Given the description of an element on the screen output the (x, y) to click on. 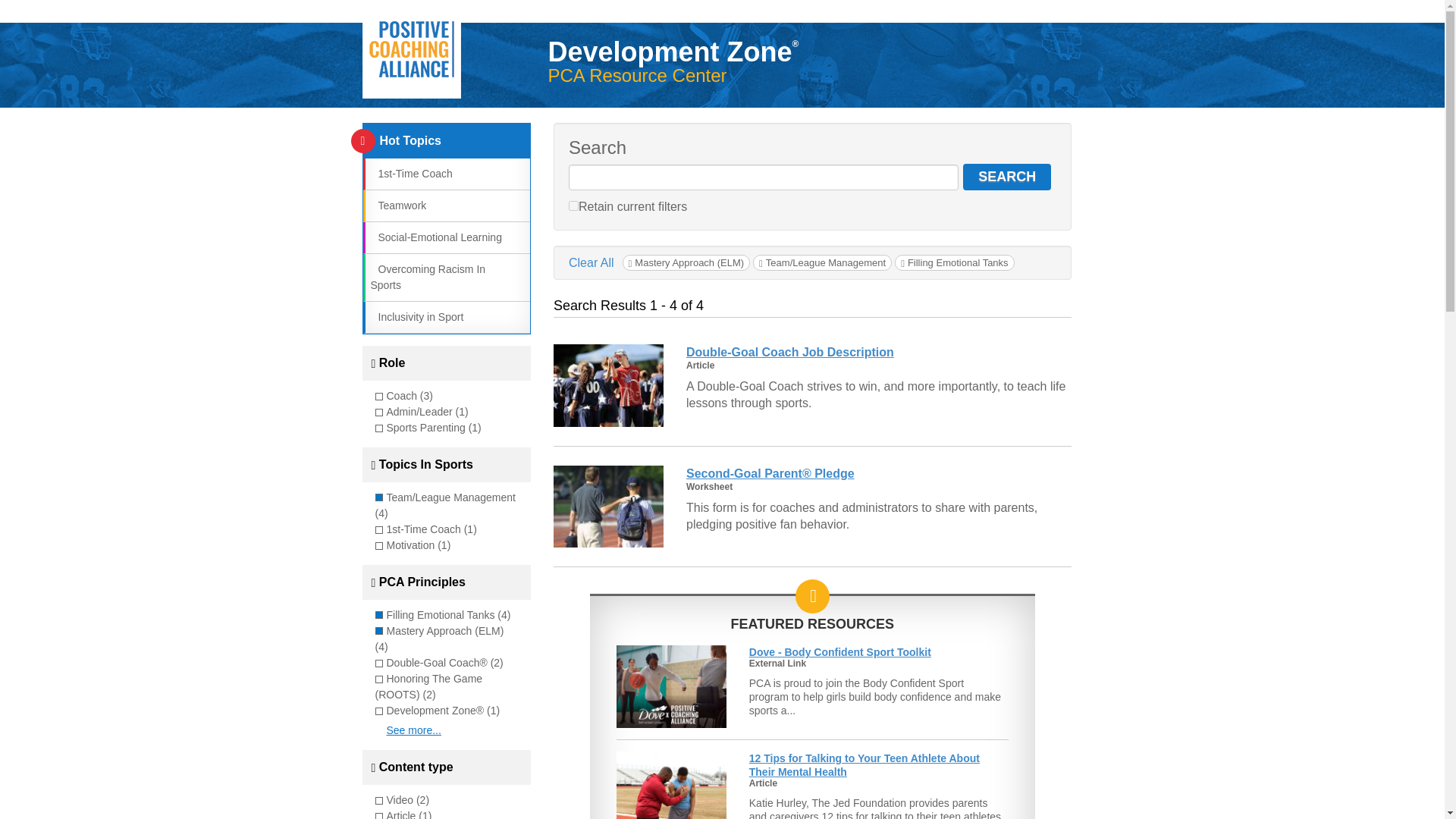
SEARCH (1006, 176)
Clear All (591, 262)
Teamwork (397, 205)
Filling Emotional Tanks (954, 262)
Dove - Body Confident Sport Toolkit (840, 652)
Overcoming Racism In Sports (426, 276)
1 (573, 205)
Inclusivity in Sport (416, 316)
Social-Emotional Learning (434, 236)
See more... (414, 729)
1st-Time Coach (410, 173)
Double-Goal Coach Job Description (789, 351)
